Given the description of an element on the screen output the (x, y) to click on. 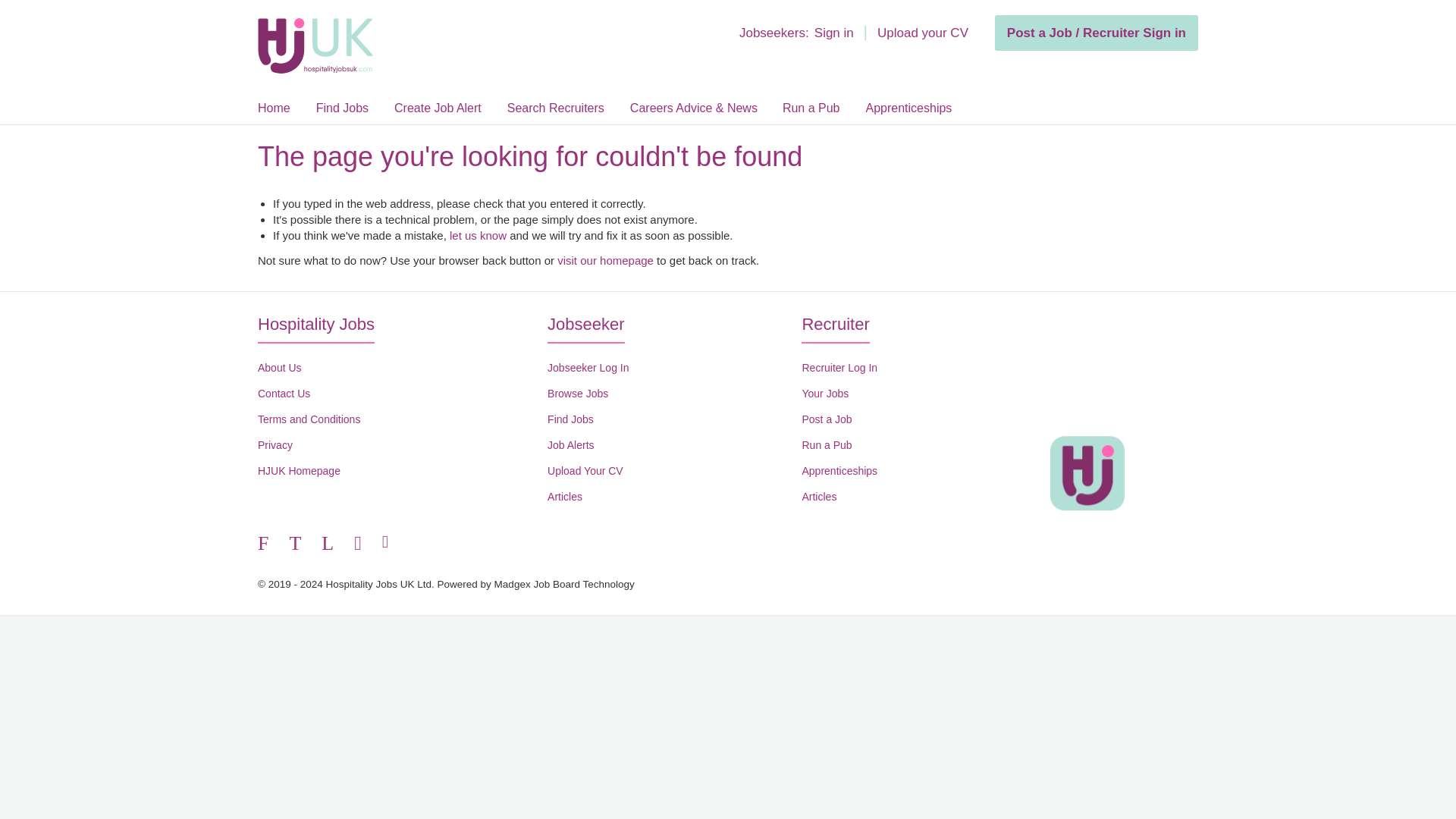
Create Job Alert (437, 107)
Run a Pub (826, 444)
Terms and Conditions (308, 419)
LinkedIn (327, 543)
Contact Us (283, 393)
Search Recruiters (555, 107)
Upload your CV (923, 32)
Job Alerts (570, 444)
visit our homepage (605, 259)
Articles (564, 496)
